Given the description of an element on the screen output the (x, y) to click on. 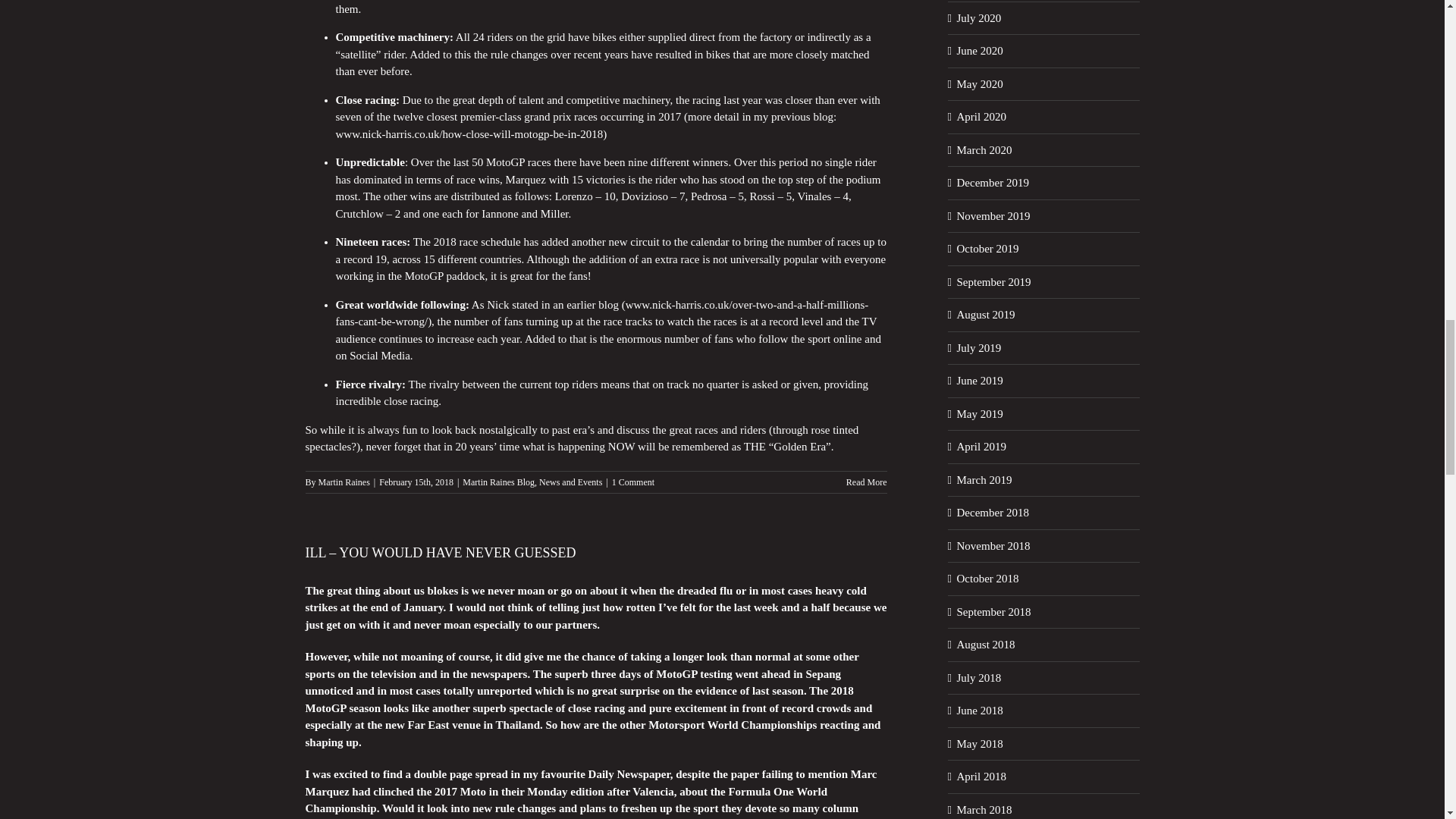
Posts by Martin Raines (343, 480)
1 Comment (632, 480)
Martin Raines Blog (498, 480)
Martin Raines (343, 480)
News and Events (570, 480)
